Given the description of an element on the screen output the (x, y) to click on. 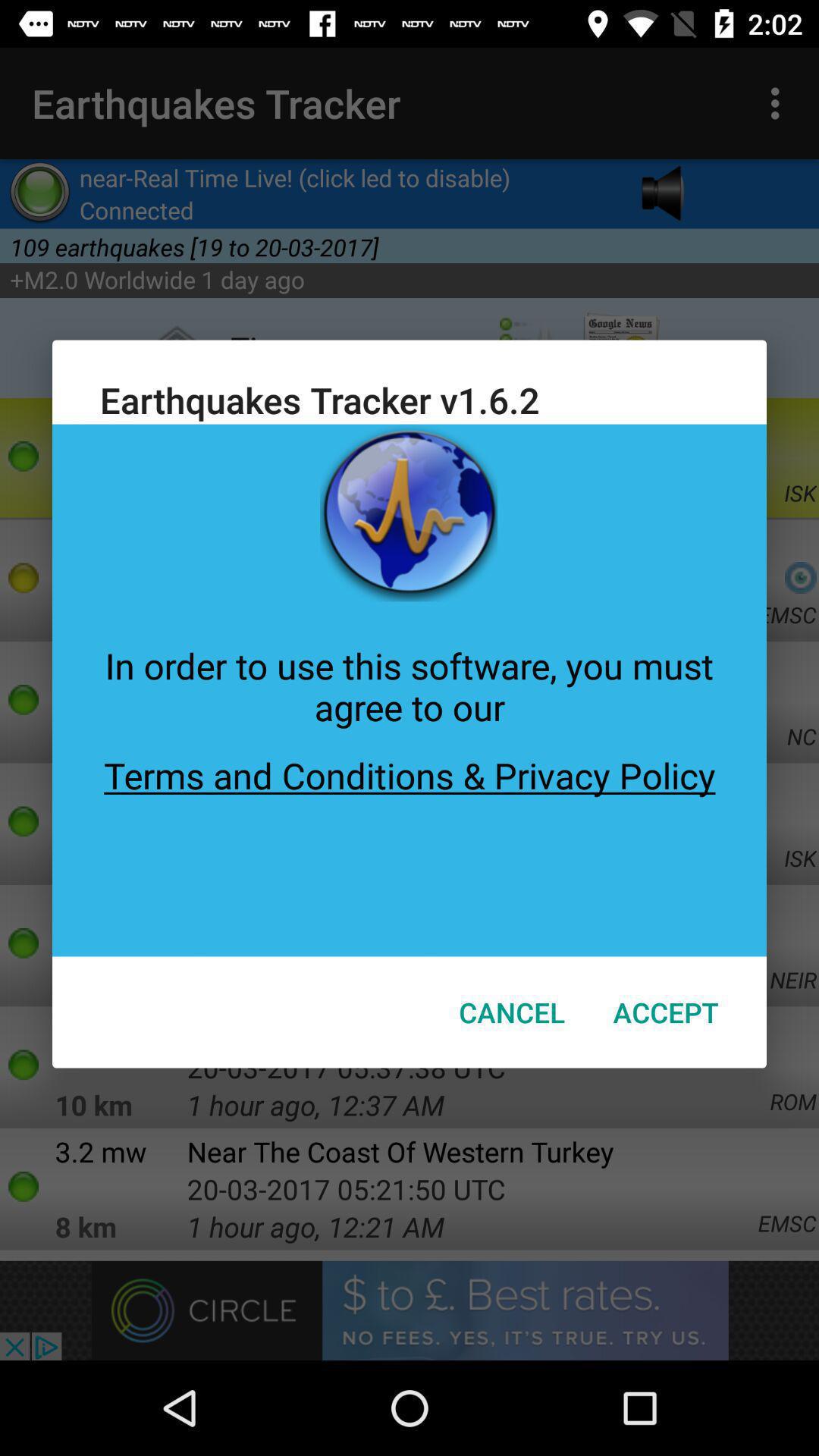
turn on icon above cancel icon (409, 843)
